Given the description of an element on the screen output the (x, y) to click on. 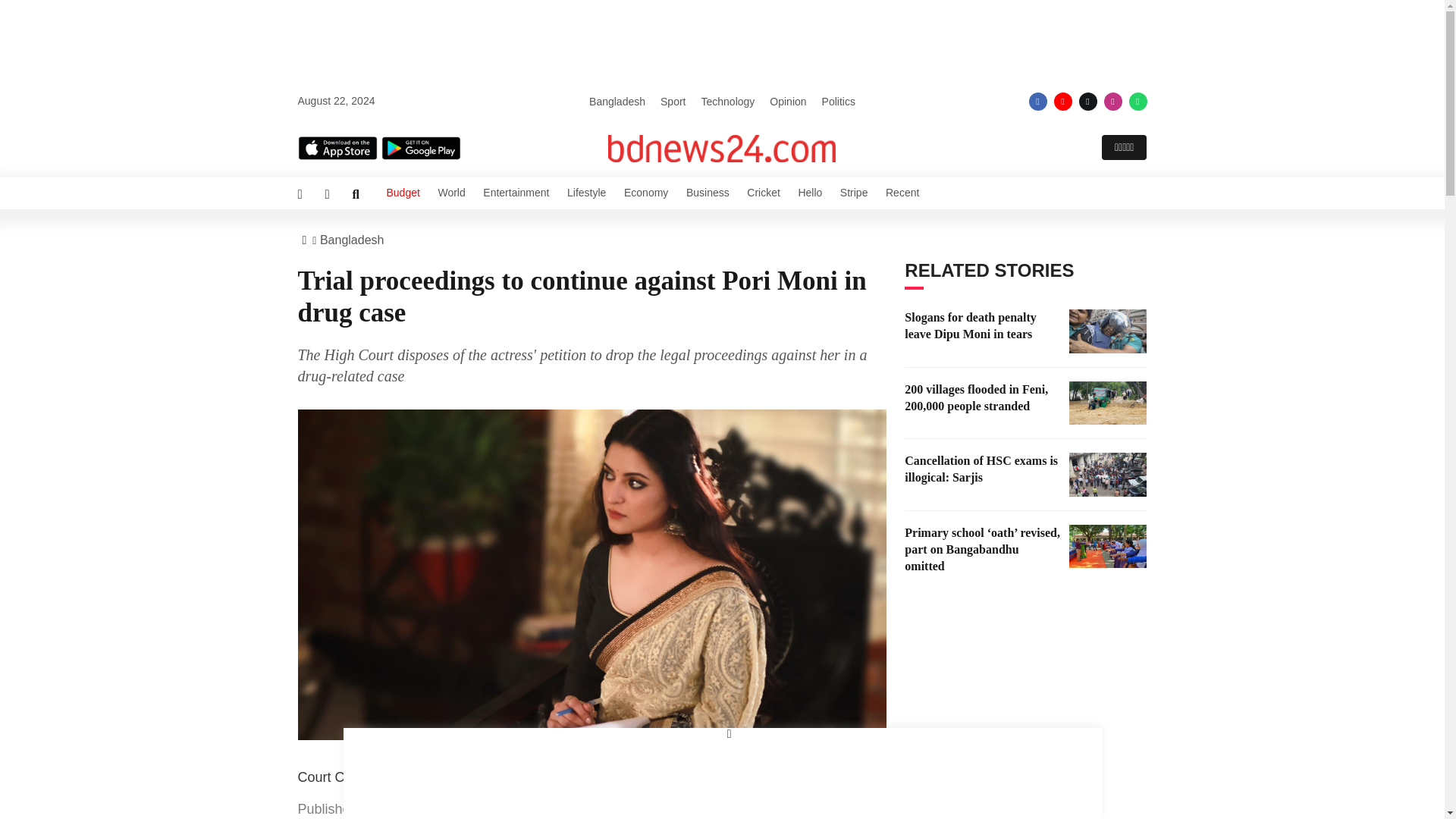
bdnews24.com (721, 148)
Slogans for death penalty leave Dipu Moni in tears (1107, 330)
200 villages flooded in Feni, 200,000 people stranded (1107, 403)
Cancellation of HSC exams is illogical: Sarjis (1107, 474)
